Given the description of an element on the screen output the (x, y) to click on. 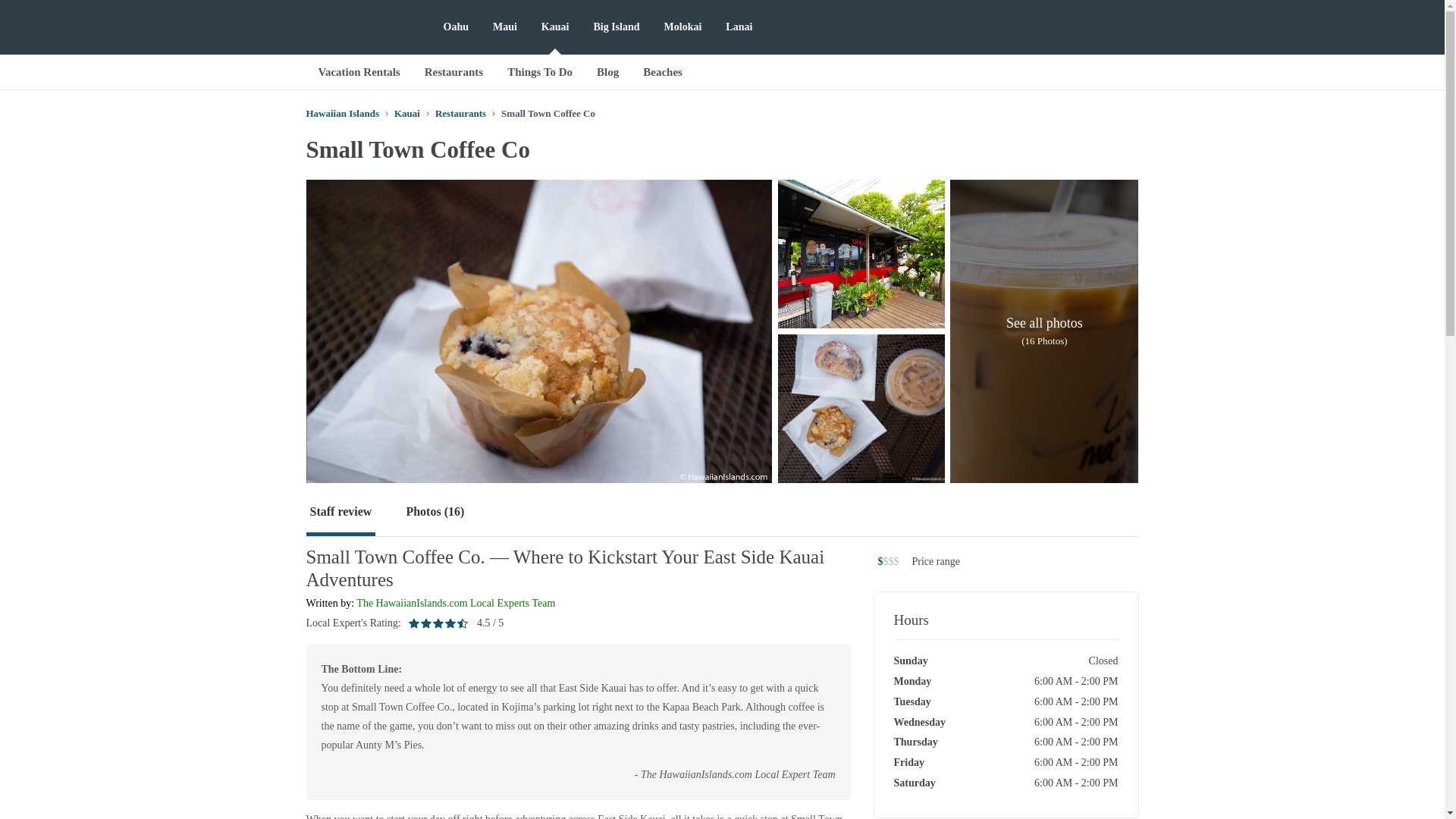
Blog (607, 71)
Things To Do (540, 71)
Original Photo (860, 253)
Vacation Rentals (358, 71)
Hawaiian Islands (341, 112)
Beaches (662, 71)
Staff review (340, 513)
Restaurants (460, 112)
Restaurants (454, 71)
The HawaiianIslands.com Local Experts Team (455, 603)
